Given the description of an element on the screen output the (x, y) to click on. 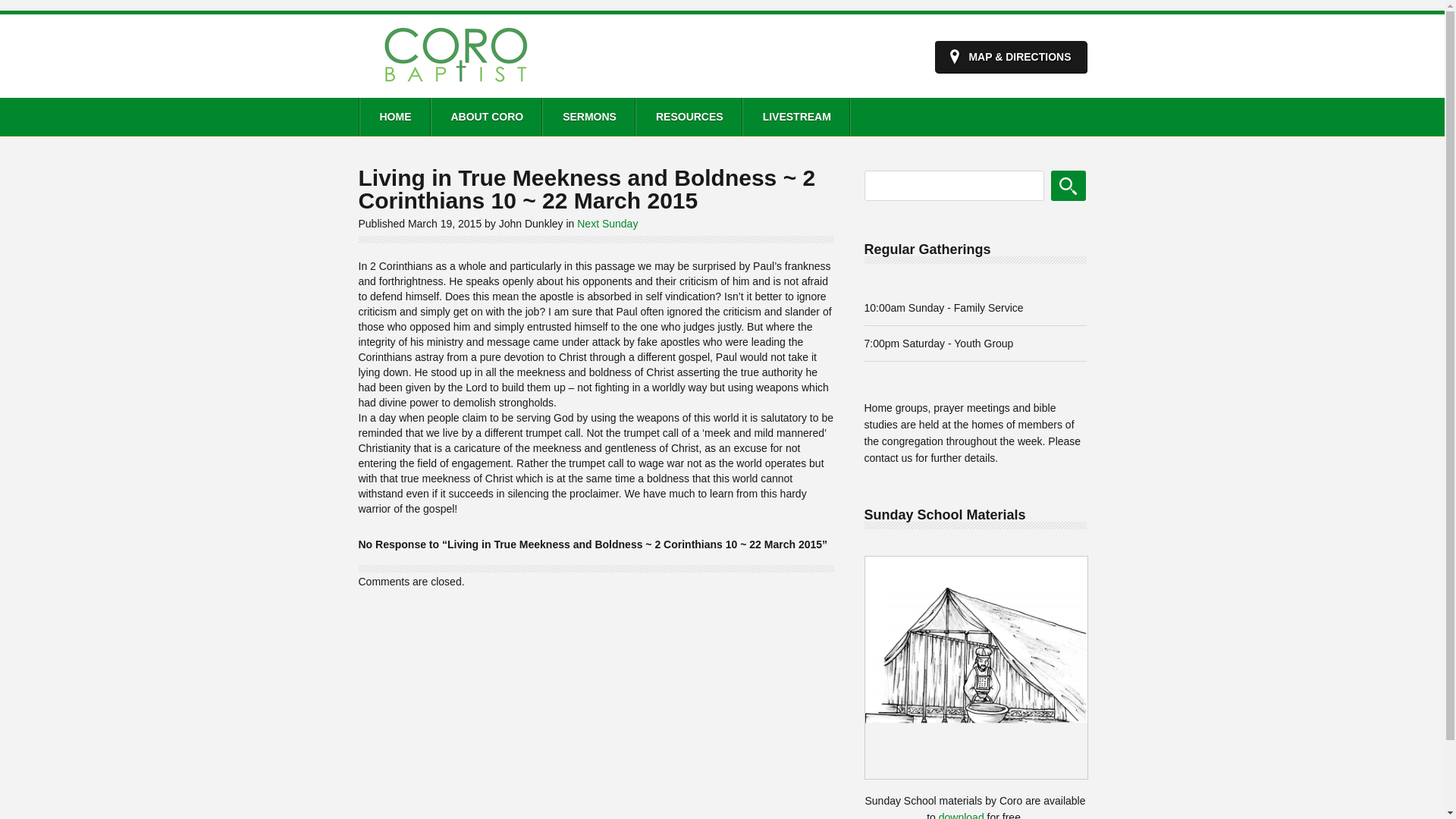
SERMONS (588, 116)
Search (1068, 185)
Coromandel Baptist Church (455, 85)
get directions (1010, 56)
Search (1068, 185)
download (961, 815)
HOME (394, 116)
Next Sunday (606, 223)
RESOURCES (688, 116)
LIVESTREAM (795, 116)
